Given the description of an element on the screen output the (x, y) to click on. 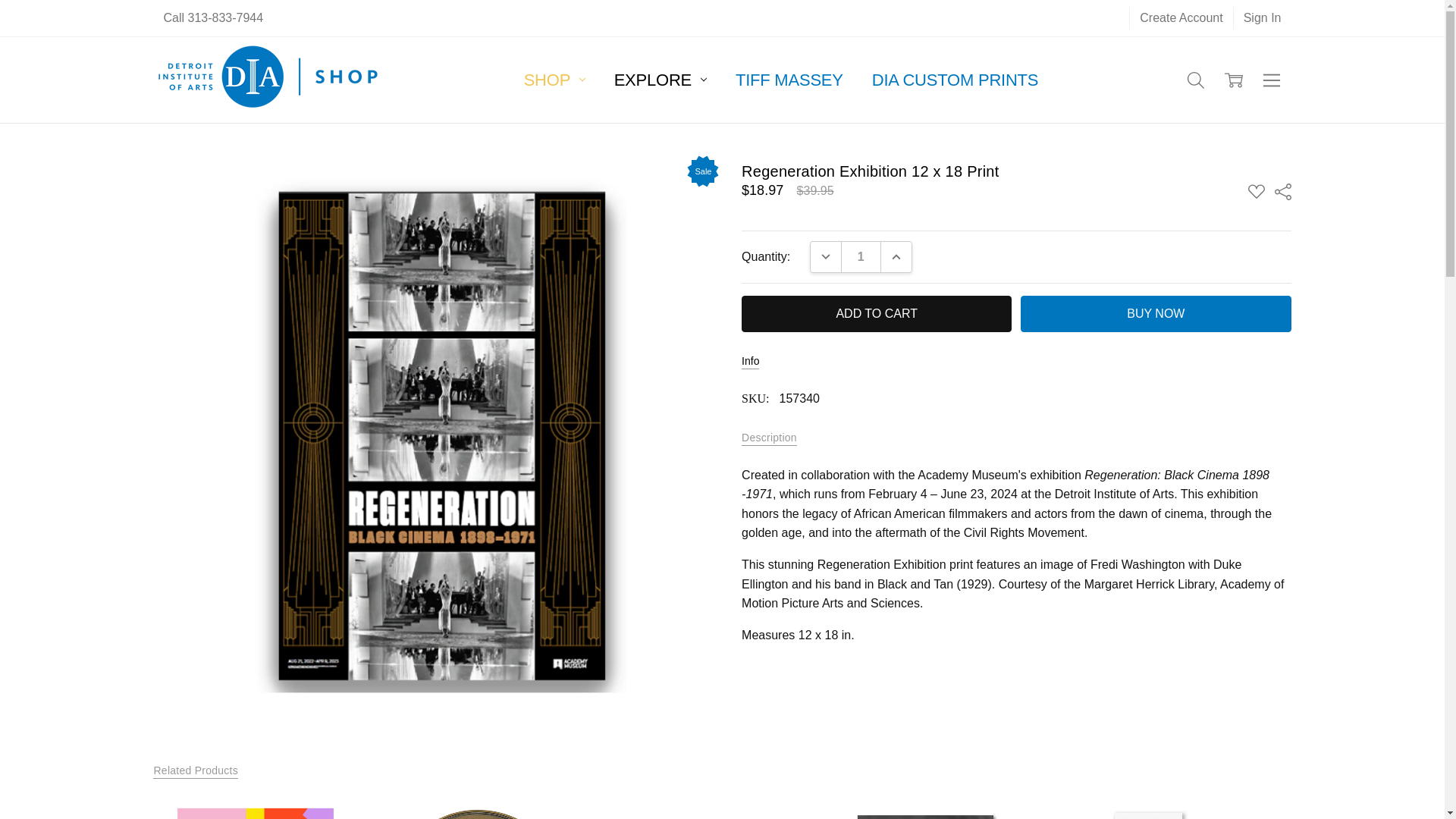
Detroit Institute of Arts Museum Shop (268, 79)
Call 313-833-7944 (212, 17)
Making a Great Exhibition (254, 808)
Create Account (1180, 17)
Frank Lloyd Wright Exhibition Typeface Wall Clock (478, 808)
Sign In (1262, 17)
1 (860, 256)
Buy Now (1155, 313)
Add to Cart (876, 313)
SHOP (554, 79)
Charley Harper Homecoming Lithograph (702, 808)
Charley Harper Paradise Pals Lithograph (1150, 808)
